Given the description of an element on the screen output the (x, y) to click on. 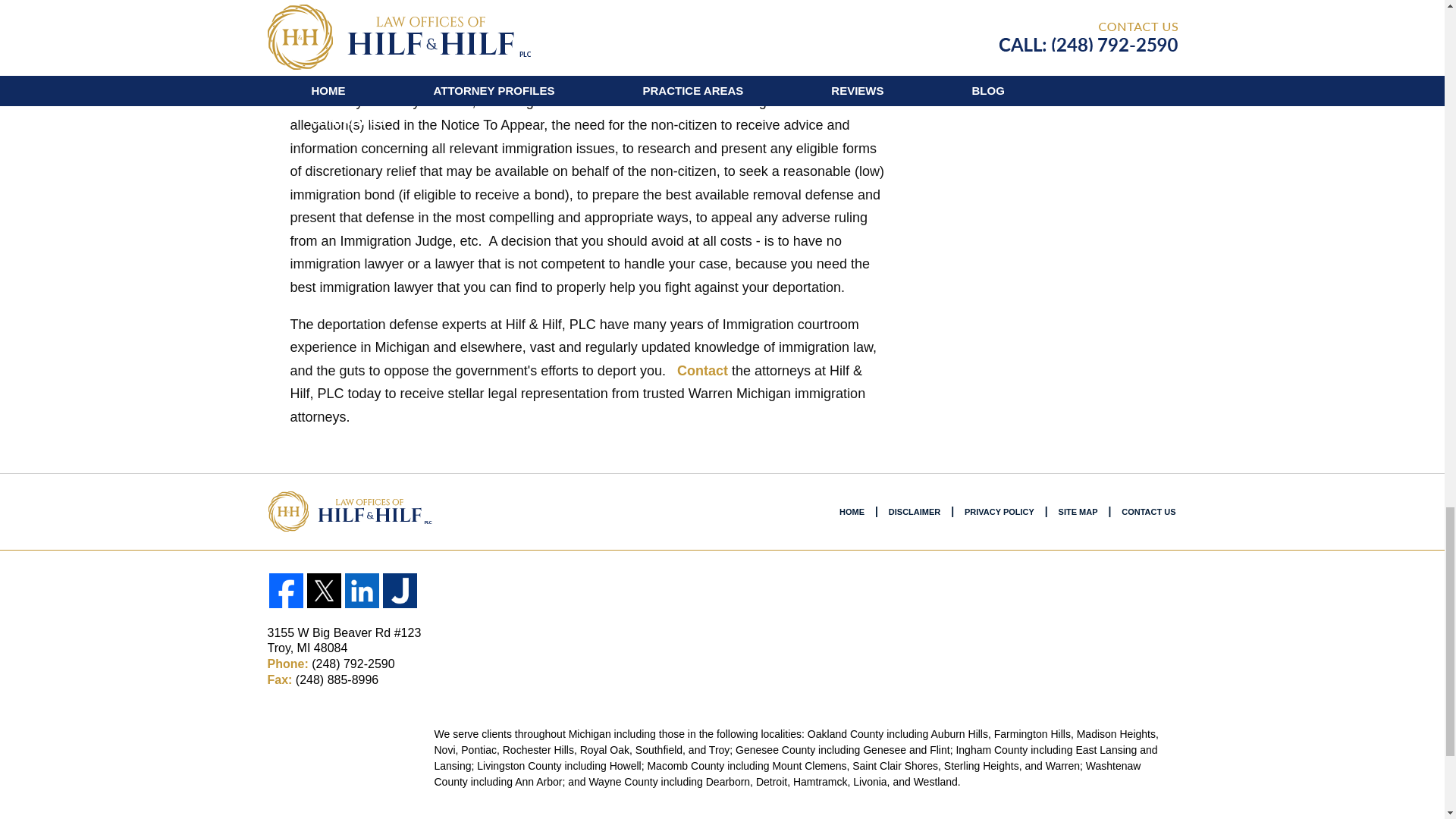
CONTACT US (1147, 512)
Contact (702, 370)
HOME (851, 512)
Facebook (285, 590)
SITE MAP (1078, 512)
PRIVACY POLICY (999, 512)
Justia (399, 590)
Twitter (323, 590)
DISCLAIMER (913, 512)
LinkedIn (361, 590)
